Given the description of an element on the screen output the (x, y) to click on. 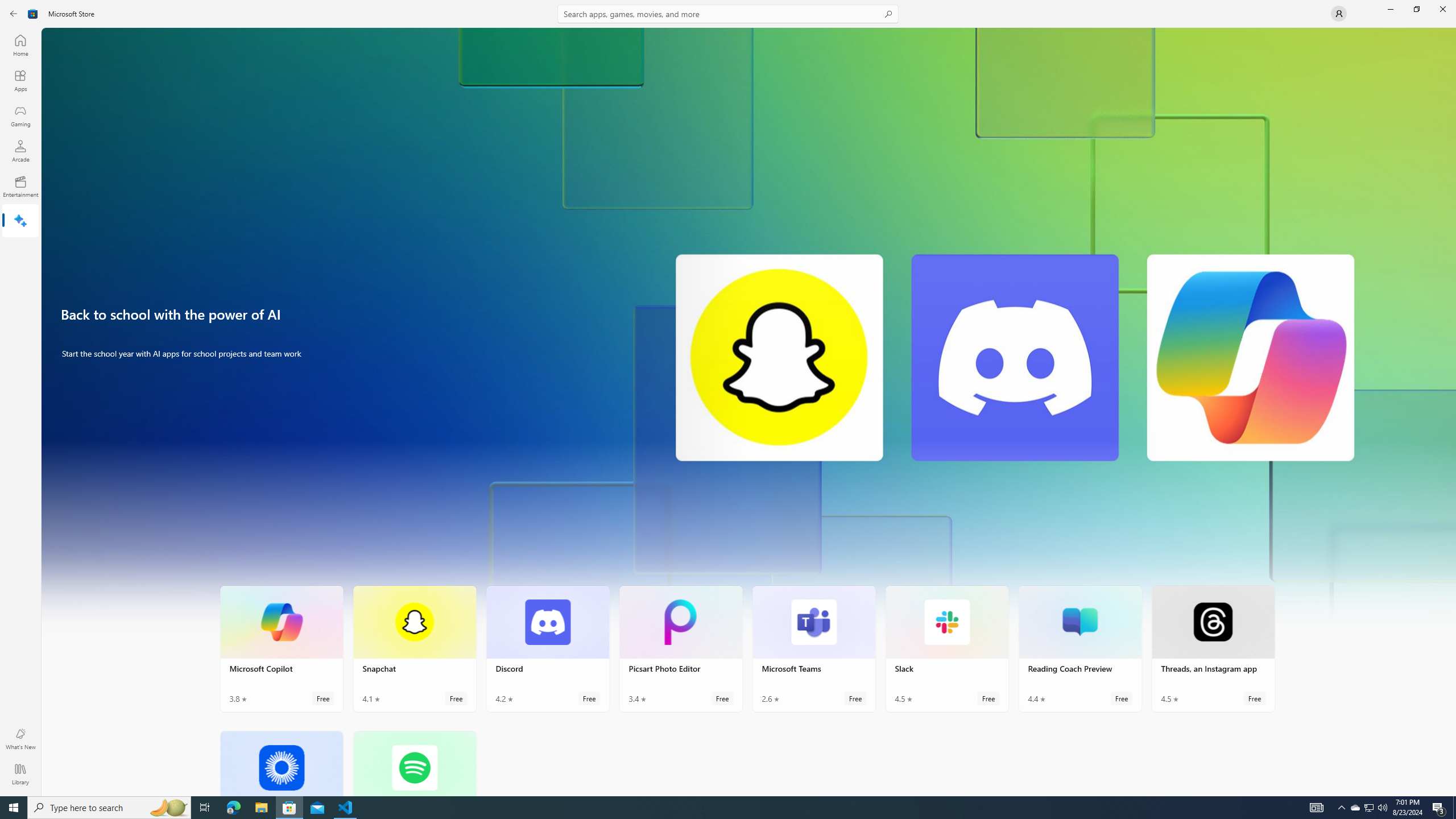
AutomationID: NavigationControl (728, 398)
Snapchat. Average rating of 4.1 out of five stars. Free   (414, 648)
